Given the description of an element on the screen output the (x, y) to click on. 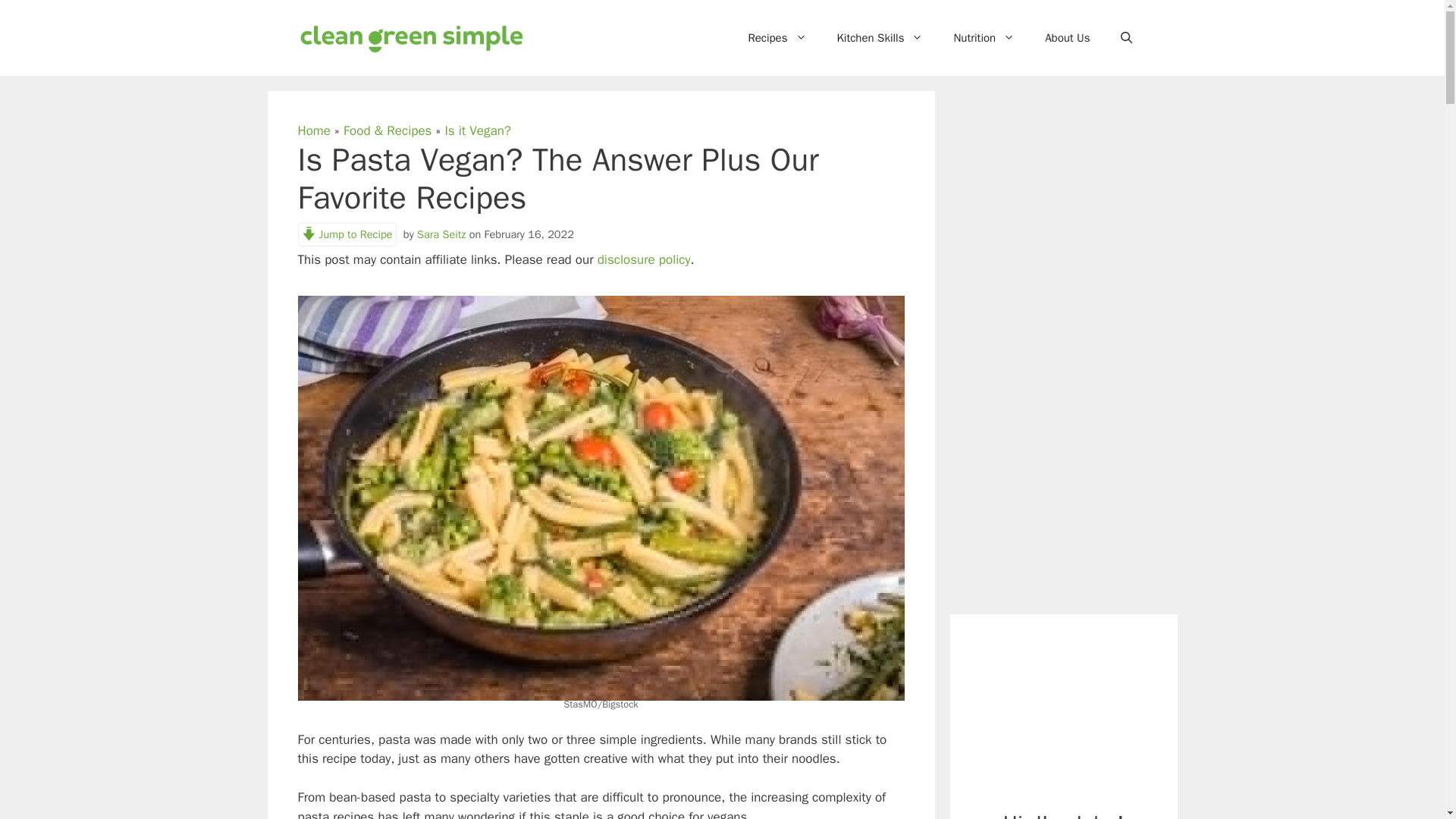
View all posts by Sara Seitz (440, 233)
About Us (1067, 37)
Nutrition (983, 37)
Recipes (776, 37)
Kitchen Skills (880, 37)
